Given the description of an element on the screen output the (x, y) to click on. 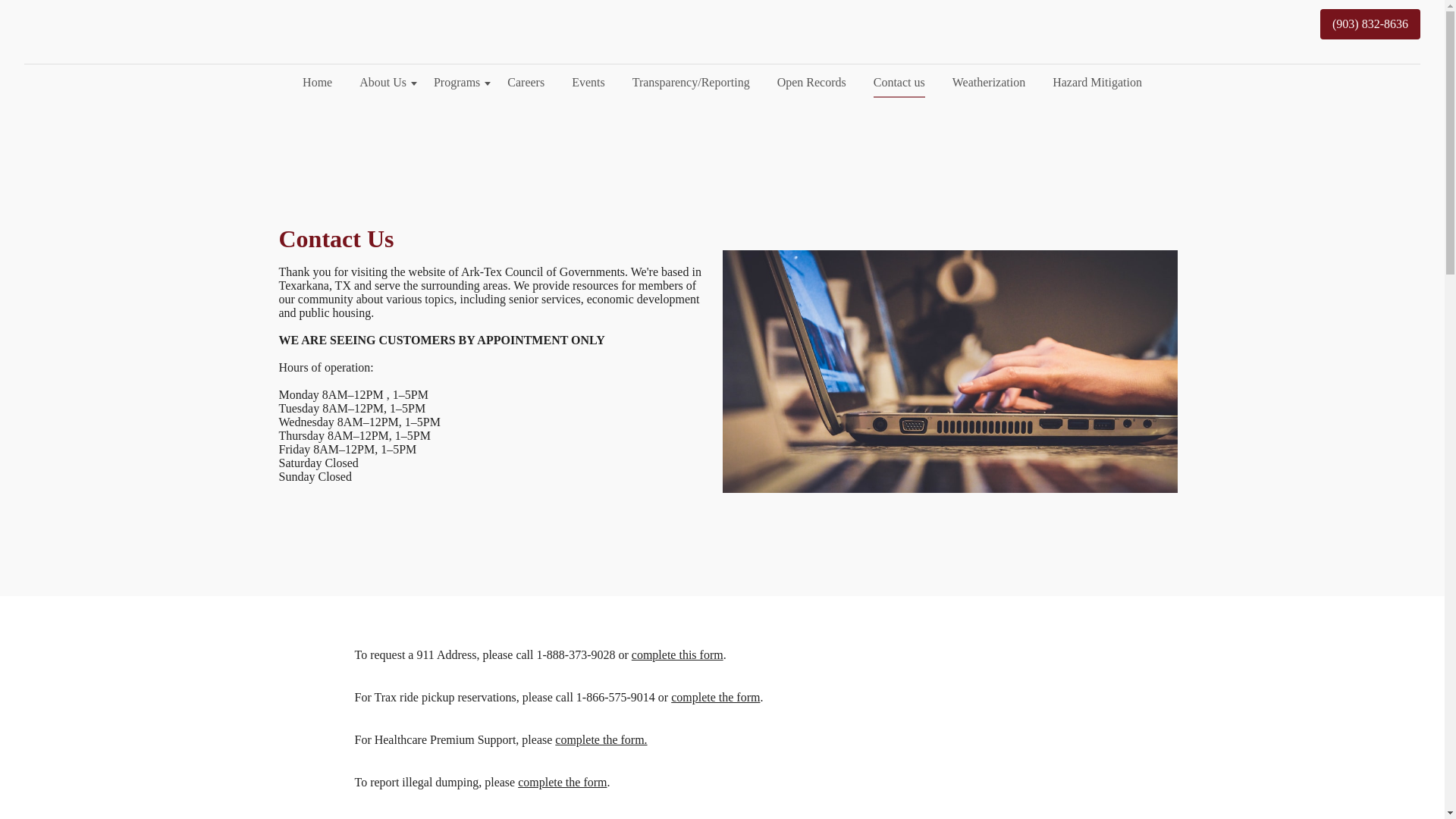
contact form (565, 818)
Open Records (812, 82)
Weatherization (988, 82)
complete the form (715, 697)
Home (316, 82)
Careers (525, 82)
Contact us (899, 82)
About Us (383, 82)
complete the form (562, 781)
Programs (457, 82)
